Given the description of an element on the screen output the (x, y) to click on. 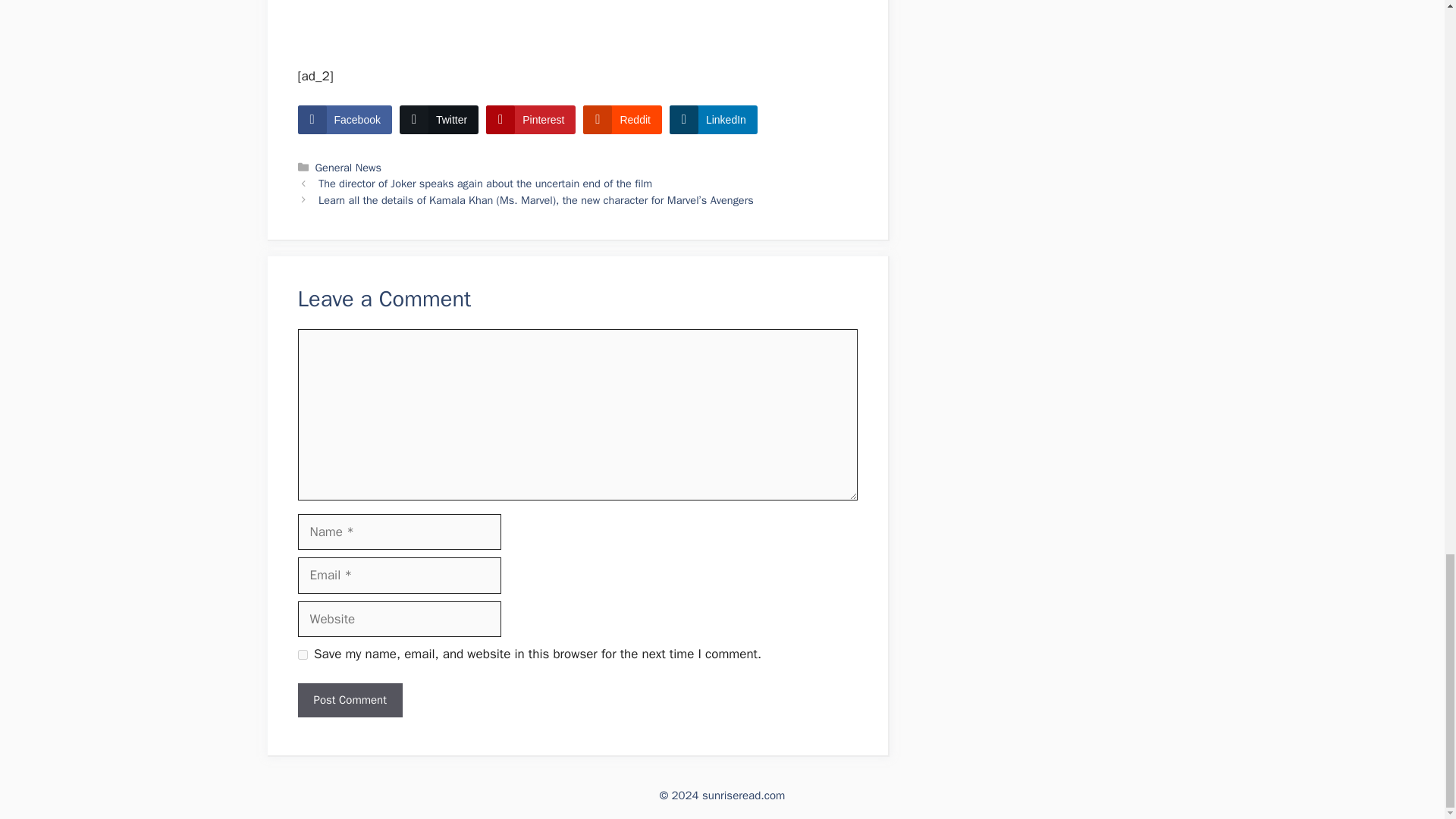
General News (348, 167)
yes (302, 655)
Twitter (438, 119)
LinkedIn (713, 119)
Pinterest (530, 119)
Facebook (344, 119)
Reddit (622, 119)
Post Comment (349, 700)
Post Comment (349, 700)
